Given the description of an element on the screen output the (x, y) to click on. 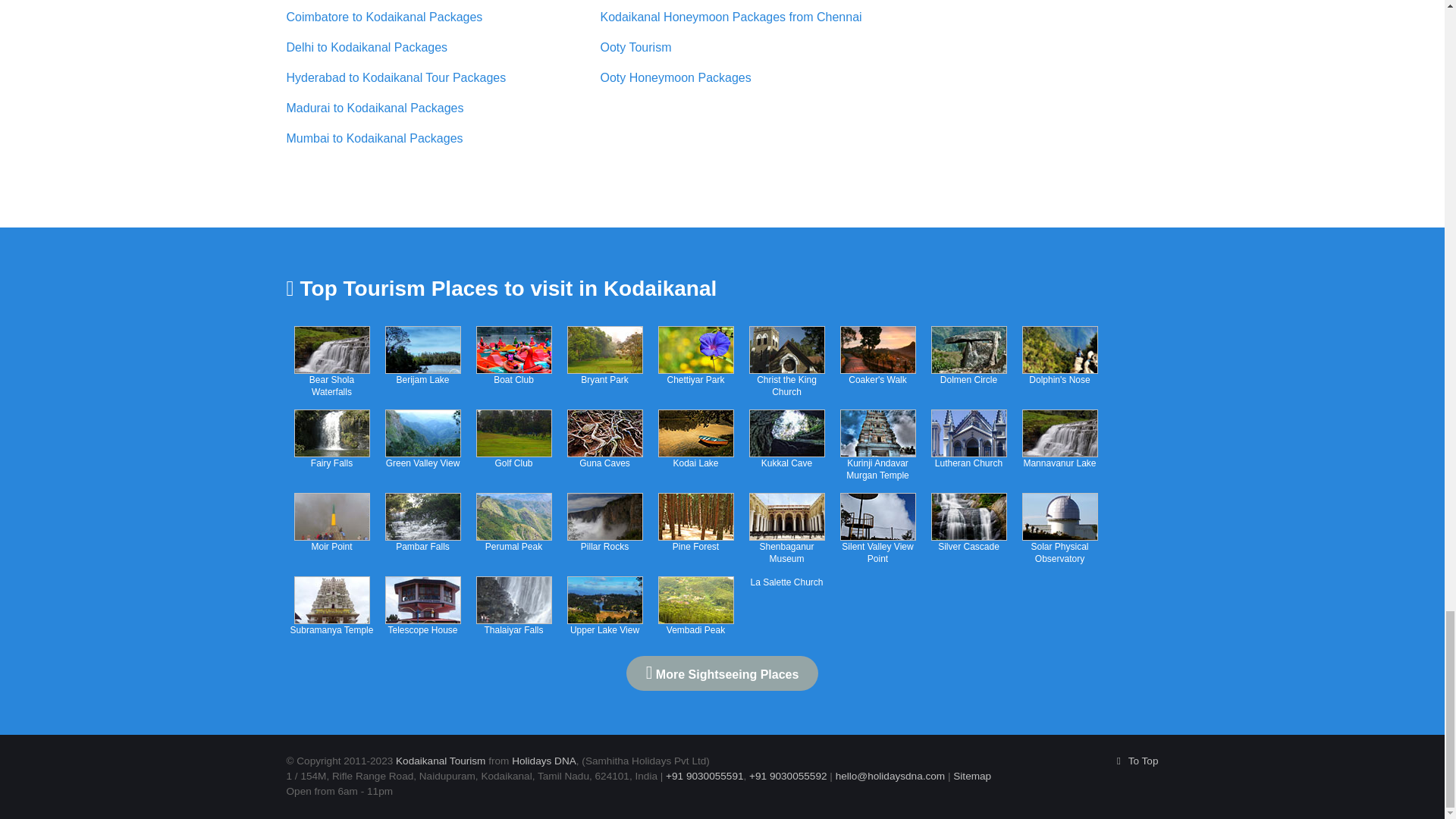
Mumbai to Kodaikanal Packages (374, 137)
Kodaikanal Honeymoon Packages from Chennai (730, 16)
Delhi to Kodaikanal Packages (367, 47)
Madurai to Kodaikanal Packages (375, 107)
Ooty Tourism (635, 47)
Hyderabad to Kodaikanal Tour Packages (396, 77)
Coimbatore to Kodaikanal Packages (384, 16)
